Given the description of an element on the screen output the (x, y) to click on. 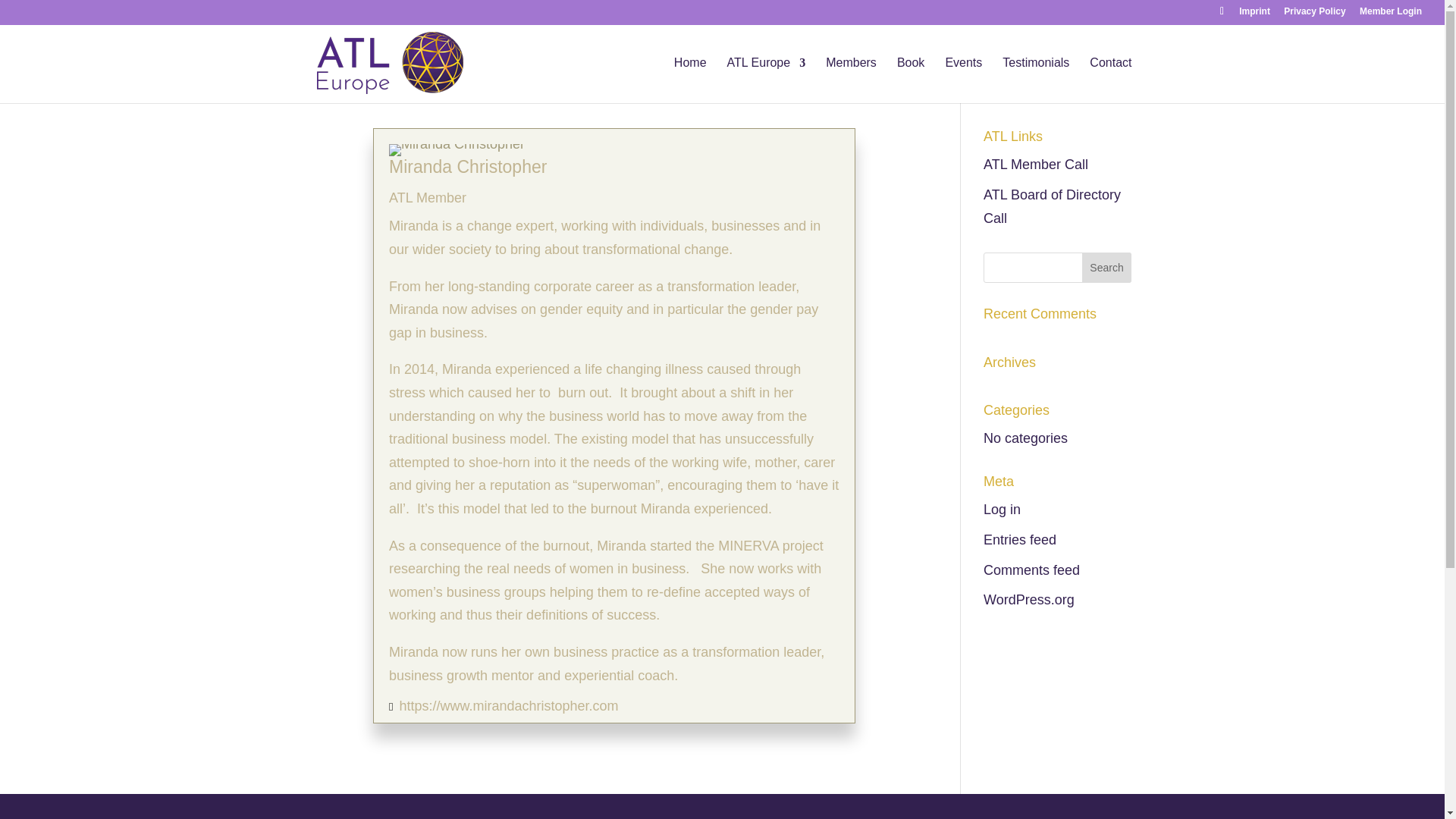
Testimonials (1035, 80)
Members (850, 80)
Privacy Policy (1314, 14)
Contact (1110, 80)
Comments feed (1032, 570)
Log in (1002, 509)
ATL Board of Directory Call (1052, 206)
Home (690, 80)
ATL Member Call (1035, 164)
Entries feed (1020, 539)
Member Login (1390, 14)
Search (1106, 267)
WordPress.org (1029, 599)
Events (962, 80)
Search (1106, 267)
